Given the description of an element on the screen output the (x, y) to click on. 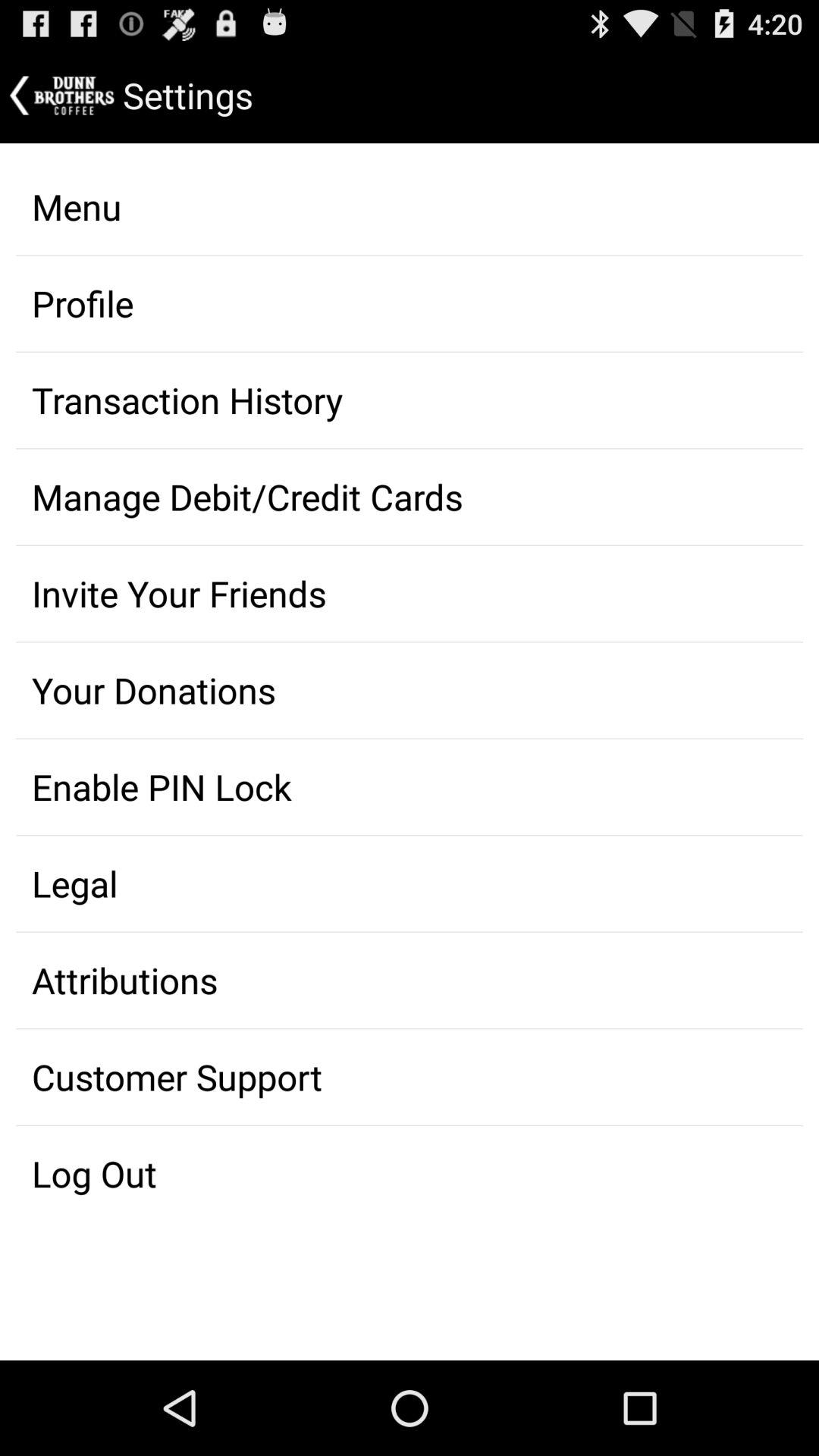
scroll to legal item (409, 883)
